Given the description of an element on the screen output the (x, y) to click on. 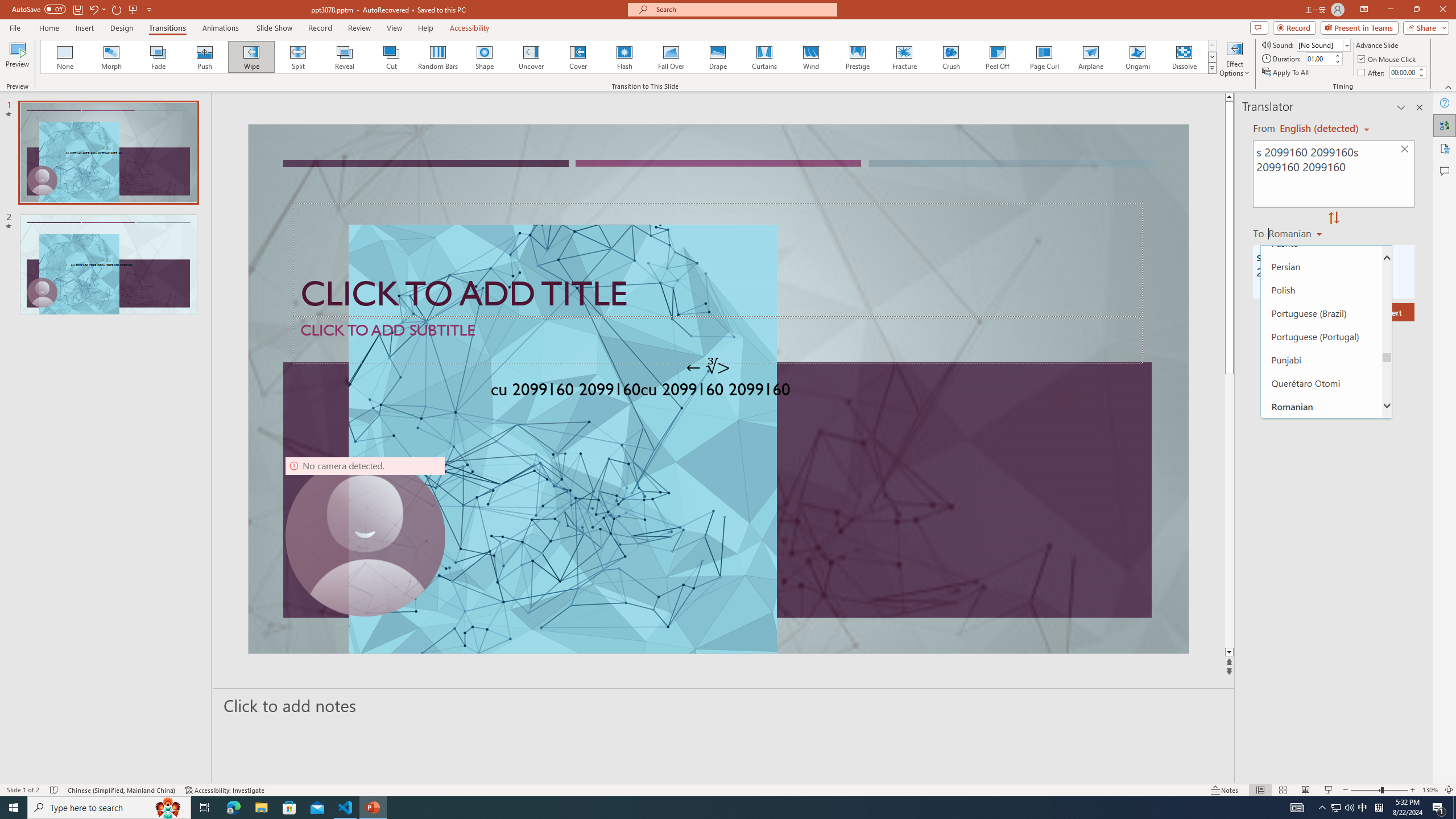
remote (69, 766)
Microsoft Cashback - US$0.00 (1320, 122)
Transformer Circuits Thread (713, 78)
Search (Ctrl+Shift+F) (76, 265)
Copilot (Ctrl+Shift+.) (1434, 46)
Timeline Section (188, 635)
json2jsonl.py (622, 183)
Class: menubar compact overflow-menu-only (76, 183)
